Given the description of an element on the screen output the (x, y) to click on. 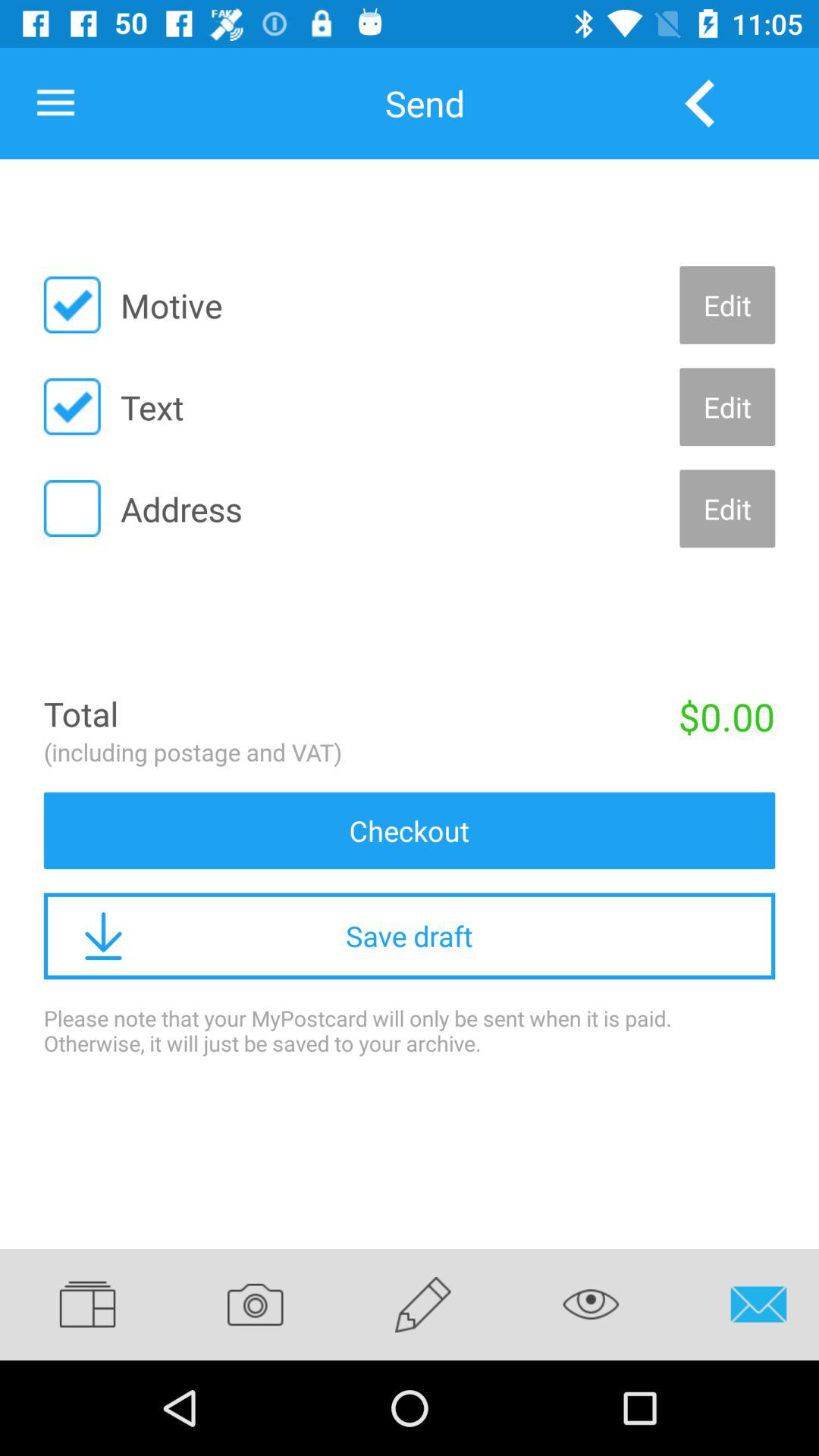
turn off item next to the send (55, 103)
